Given the description of an element on the screen output the (x, y) to click on. 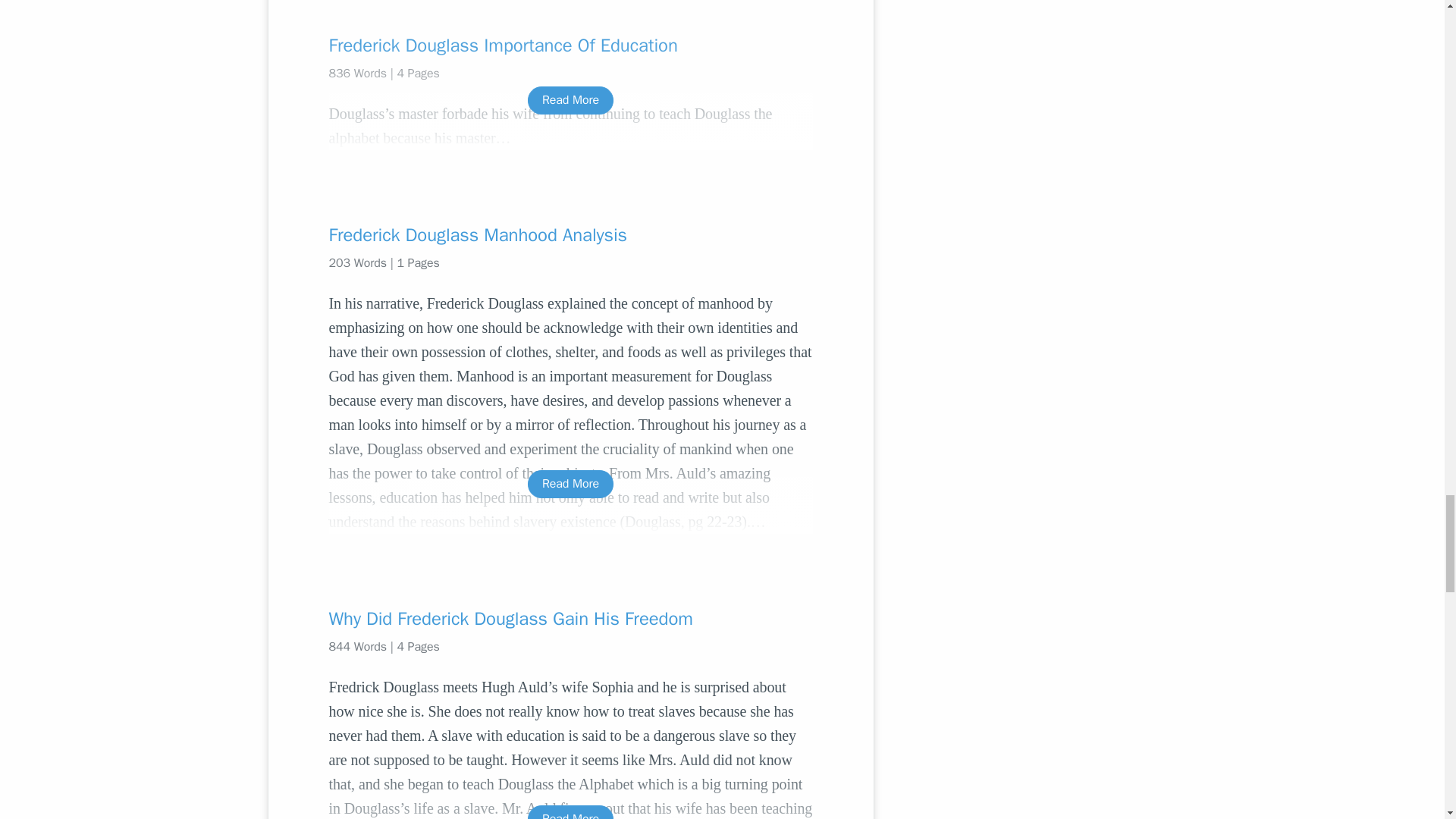
Frederick Douglass Manhood Analysis (570, 234)
Read More (569, 100)
Frederick Douglass Importance Of Education (570, 45)
